Given the description of an element on the screen output the (x, y) to click on. 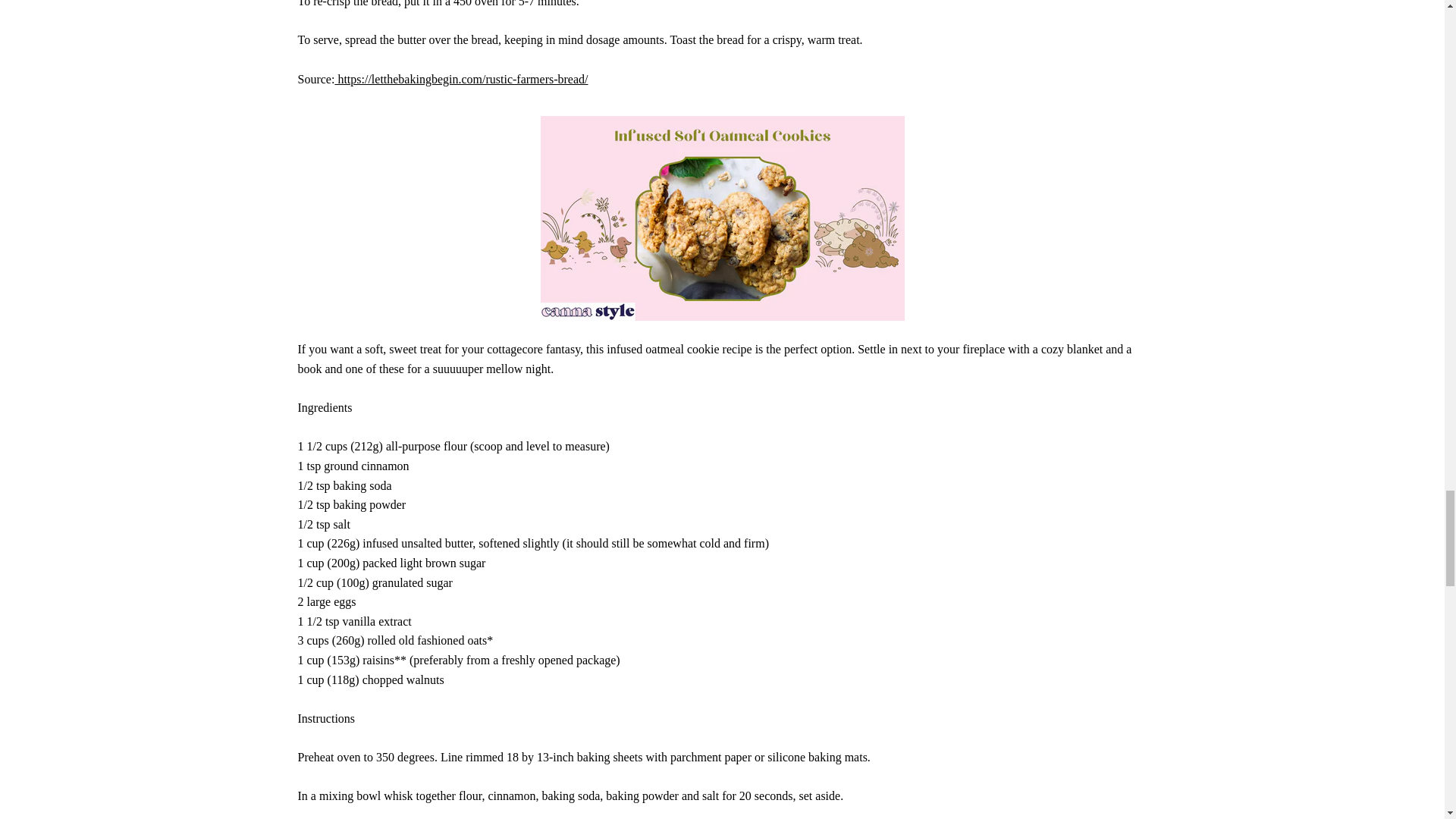
Rustic Farmers Bread (461, 78)
